Given the description of an element on the screen output the (x, y) to click on. 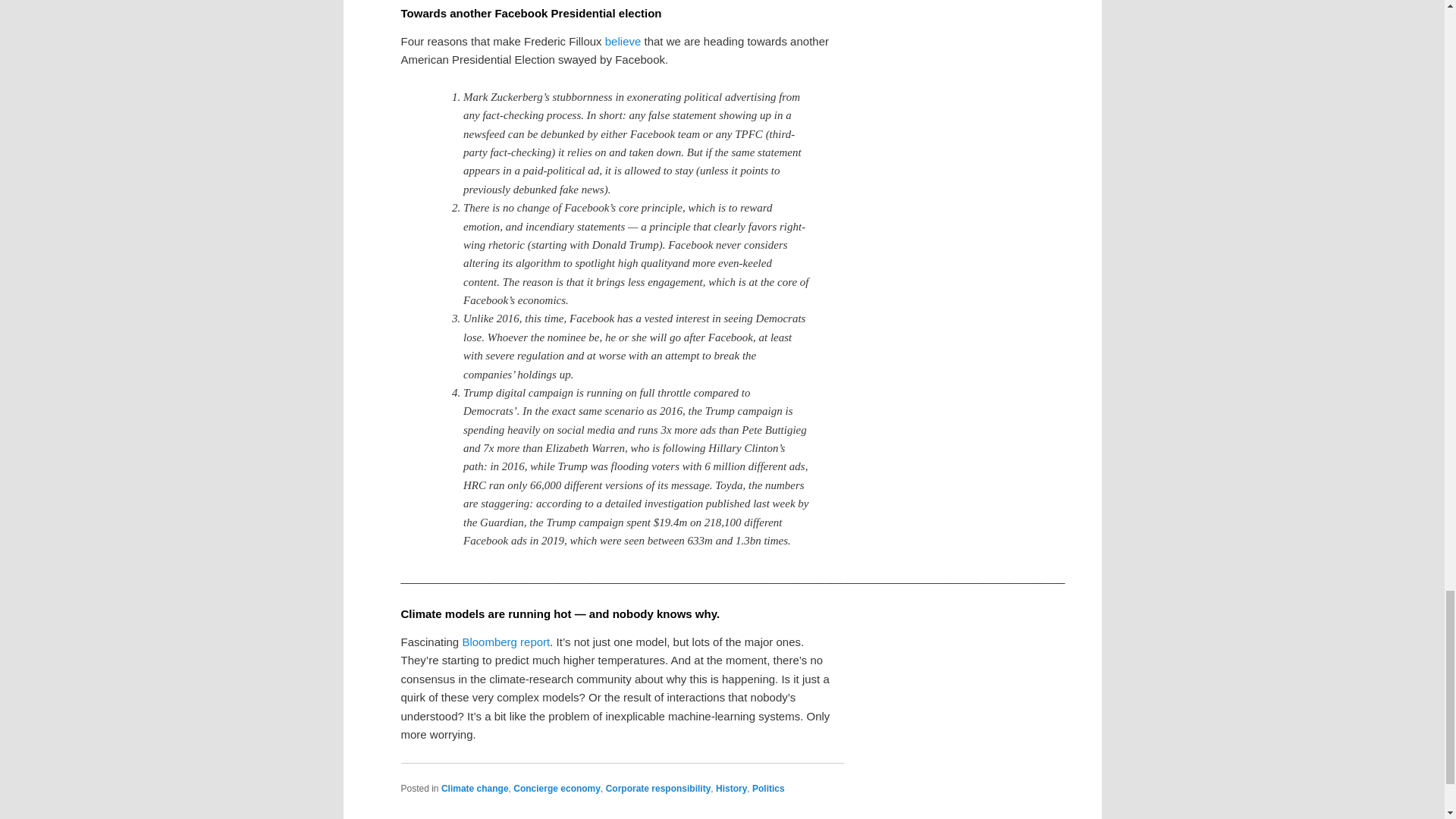
Concierge economy (556, 787)
Bloomberg report (505, 641)
Climate change (474, 787)
Corporate responsibility (658, 787)
History (731, 787)
Politics (768, 787)
believe (623, 41)
